Given the description of an element on the screen output the (x, y) to click on. 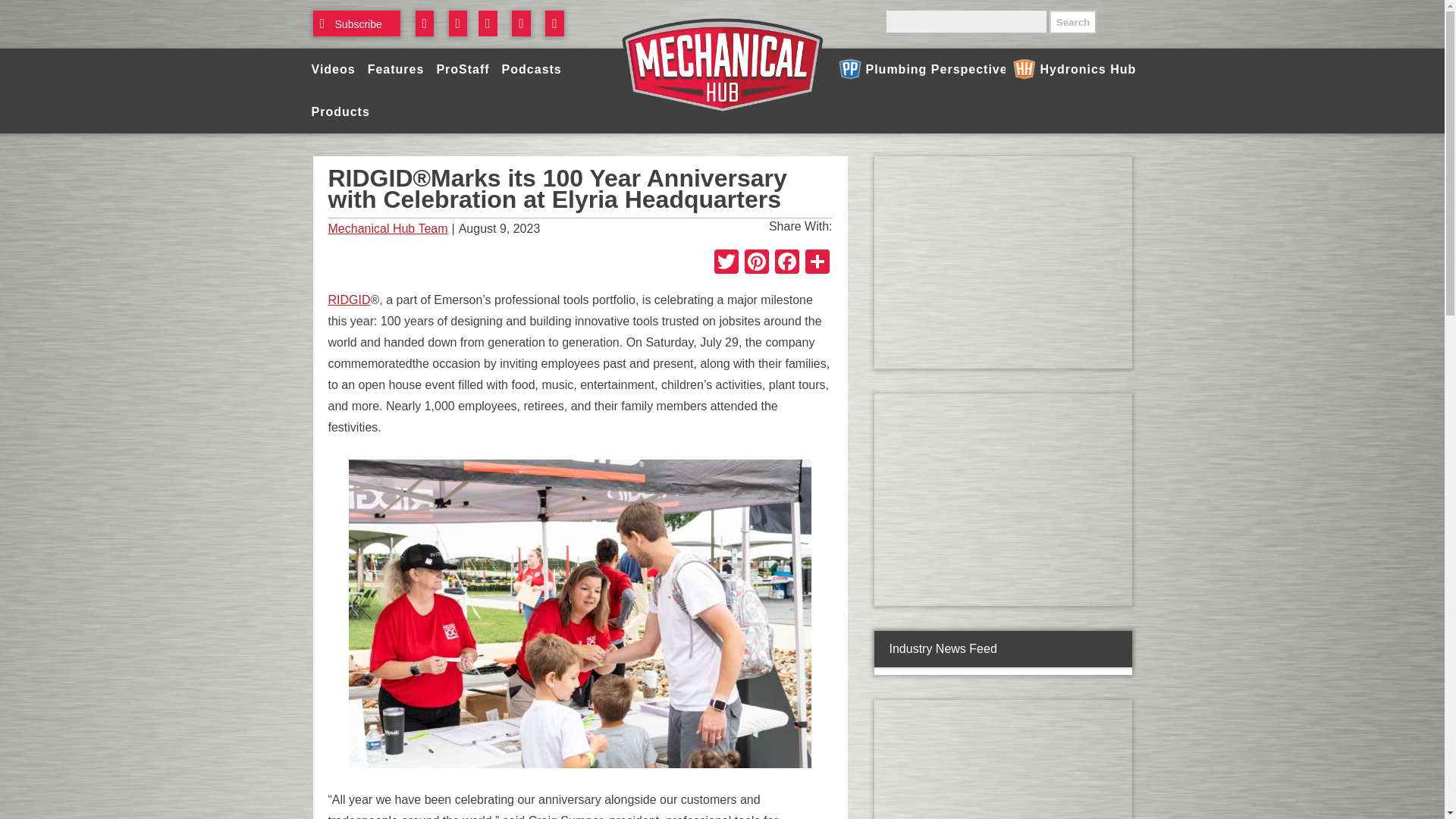
Twitter (726, 263)
2023-08-09 (579, 228)
3rd party ad content (1002, 759)
Videos (332, 69)
RIDGID (348, 299)
Share (817, 263)
Pinterest (756, 263)
Facebook (786, 263)
Search (1072, 22)
Search (1072, 22)
Features (395, 69)
Pinterest (756, 263)
Hydronics Hub (1069, 69)
Products (339, 111)
Plumbing Perspective (918, 69)
